Given the description of an element on the screen output the (x, y) to click on. 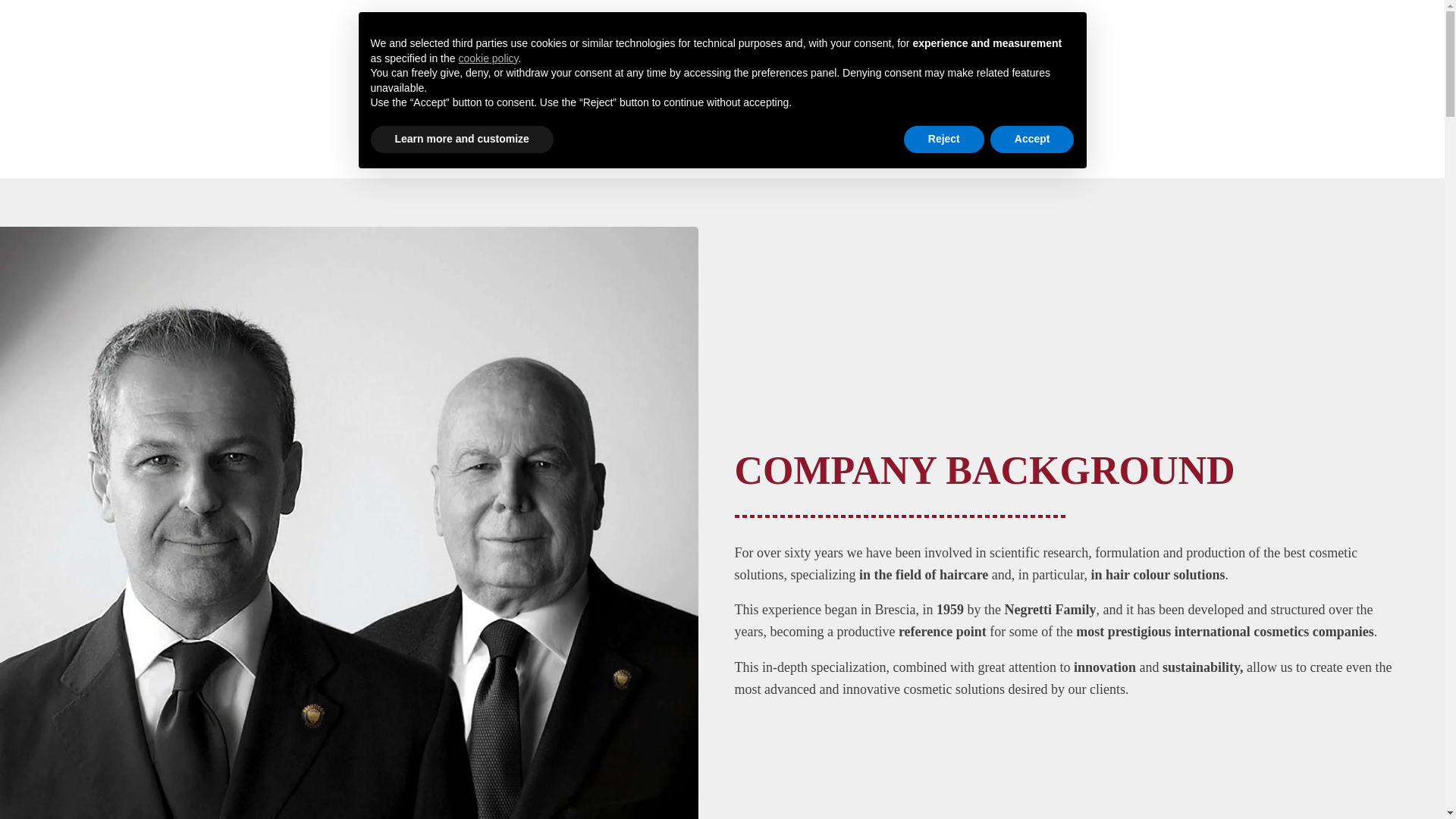
ITALIANO (894, 149)
CONTACTS (801, 149)
Reject (944, 139)
ABOUT US (553, 149)
A NEW APPROACH (682, 149)
Accept (1032, 139)
Learn more and customize (461, 139)
cookie policy (488, 58)
